Given the description of an element on the screen output the (x, y) to click on. 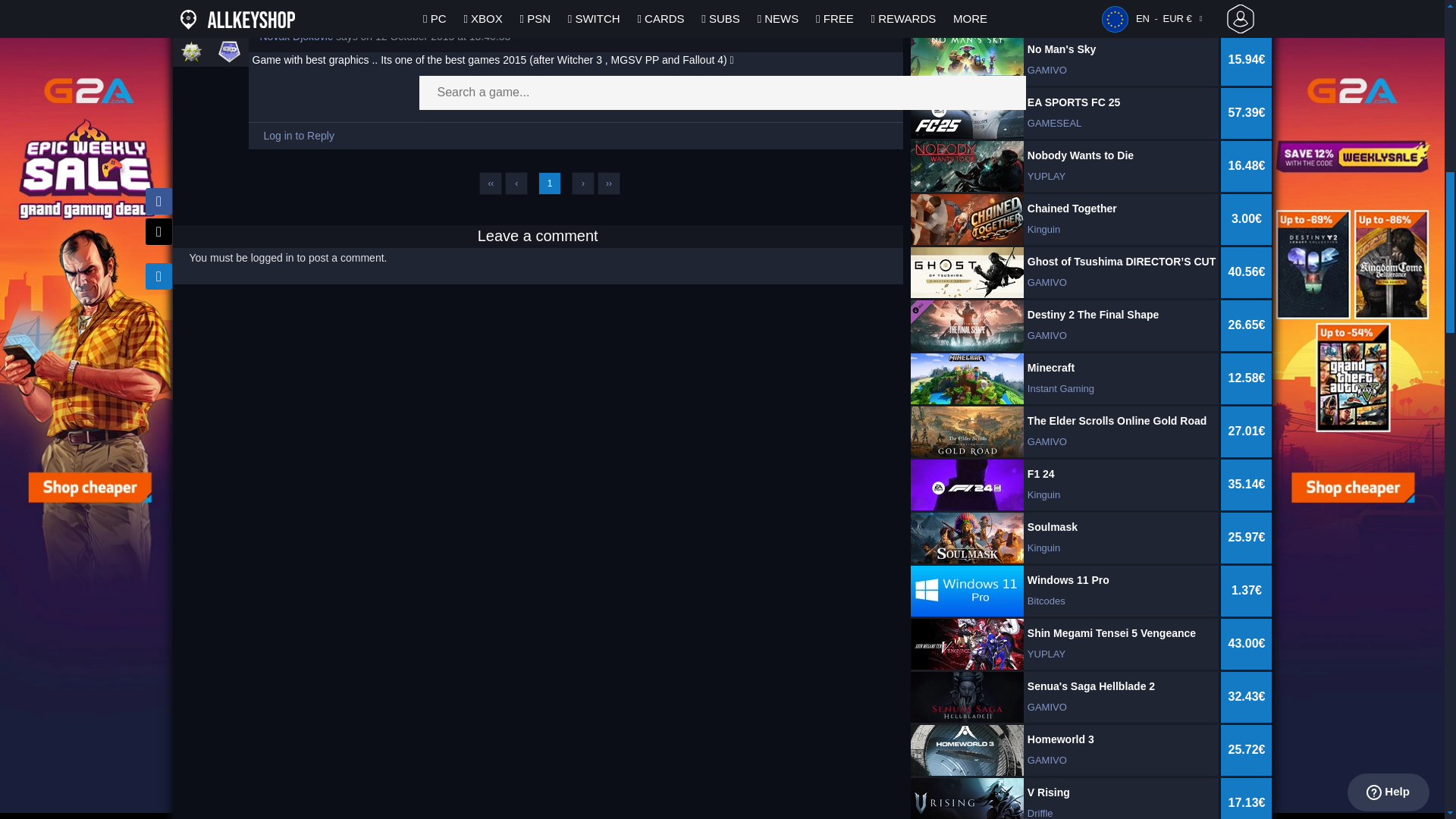
Comments (229, 51)
Seniority (191, 51)
